Given the description of an element on the screen output the (x, y) to click on. 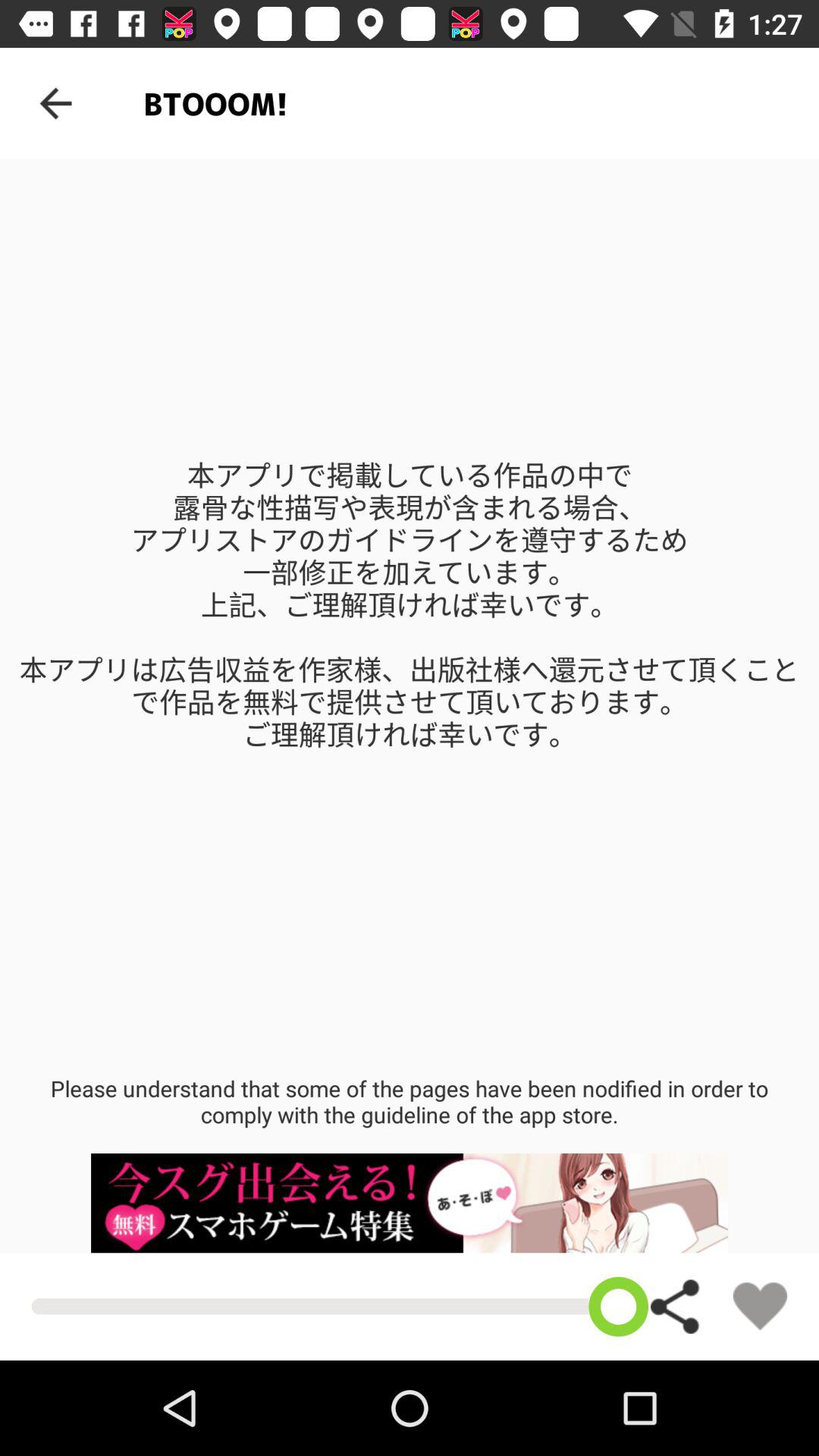
favorite item (760, 1306)
